Given the description of an element on the screen output the (x, y) to click on. 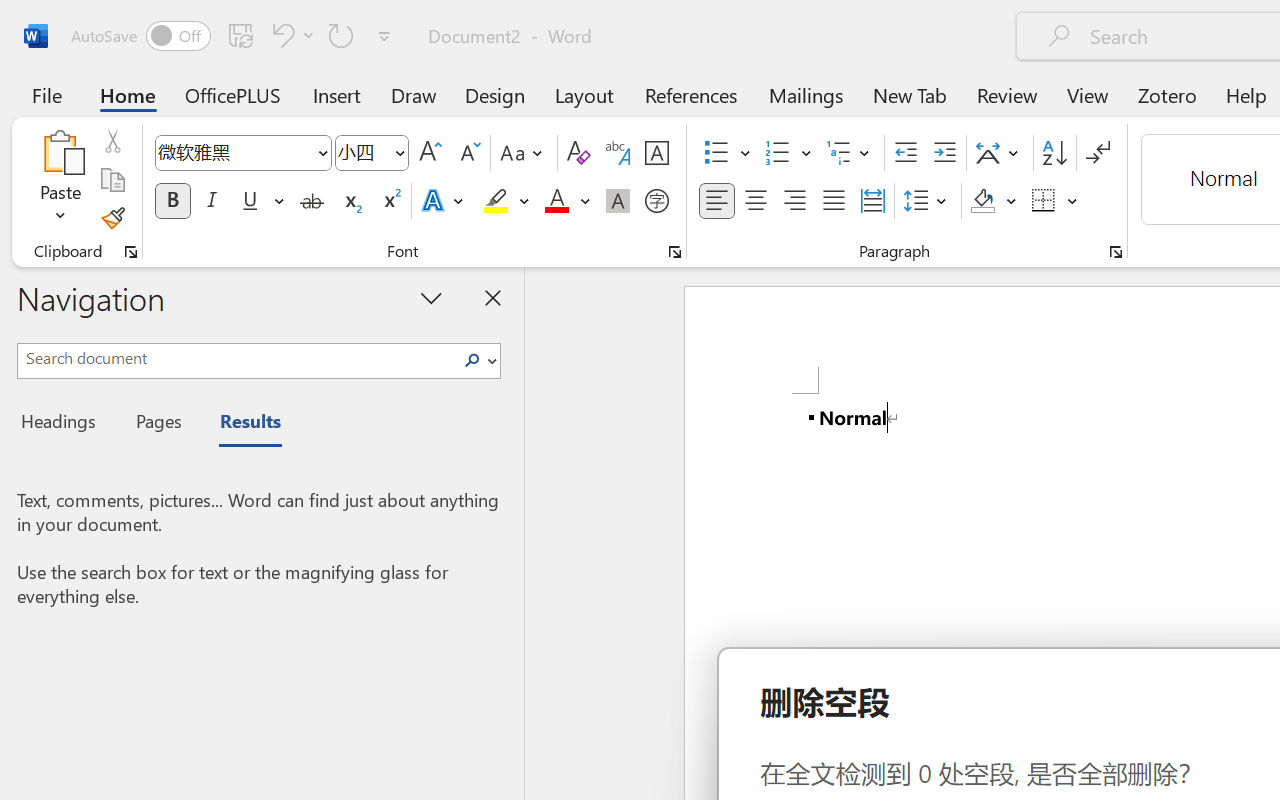
Shading (993, 201)
Insert (337, 94)
More Options (1073, 201)
Underline (250, 201)
Align Right (794, 201)
References (690, 94)
Font... (675, 252)
Cut (112, 141)
Font (242, 153)
Italic (212, 201)
Open (399, 152)
Mailings (806, 94)
Increase Indent (944, 153)
AutoSave (140, 35)
Task Pane Options (431, 297)
